Given the description of an element on the screen output the (x, y) to click on. 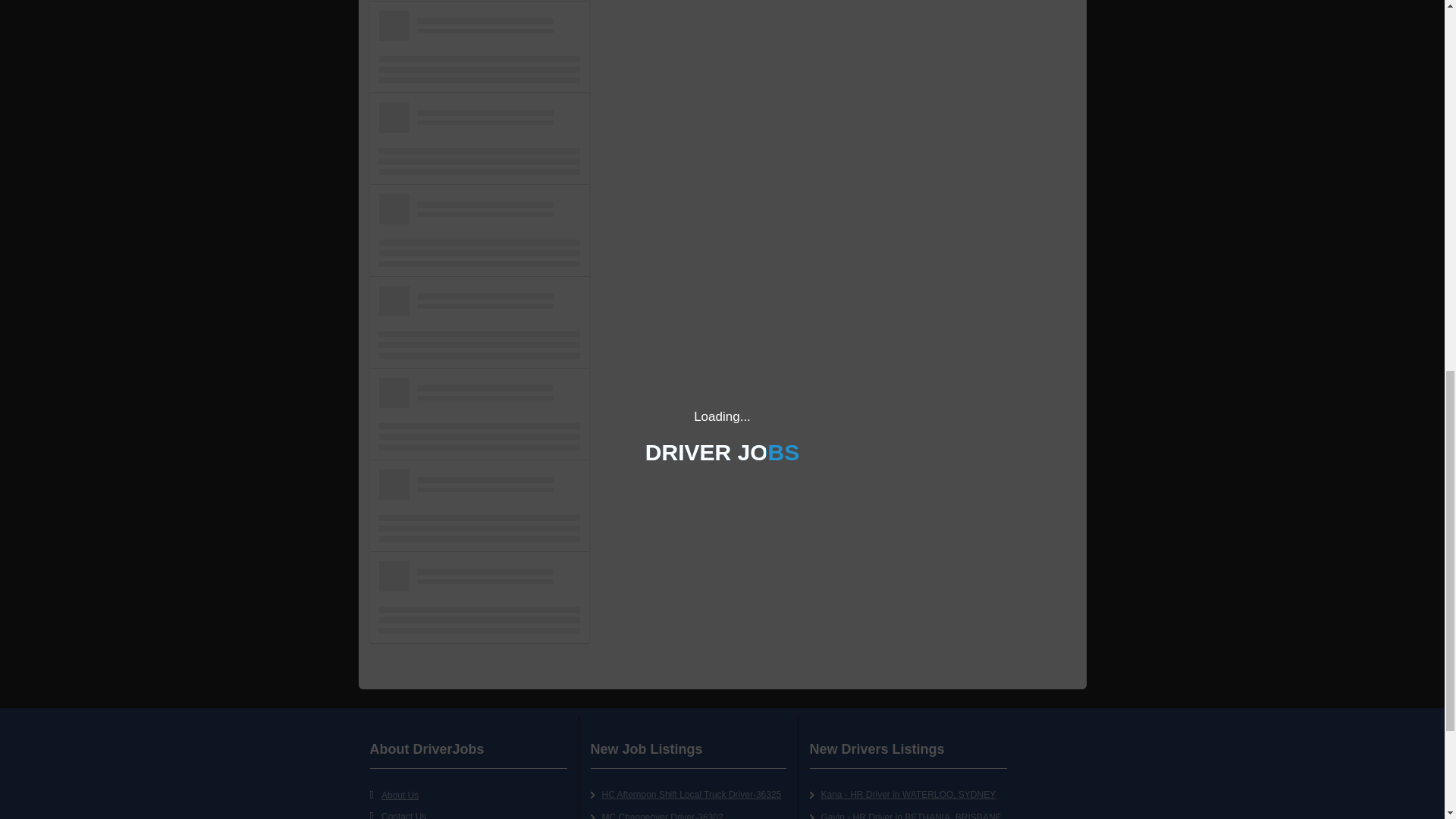
HC Afternoon Shift Local Truck Driver-36325 (691, 794)
MC Changeover Driver-36302 (662, 815)
